Given the description of an element on the screen output the (x, y) to click on. 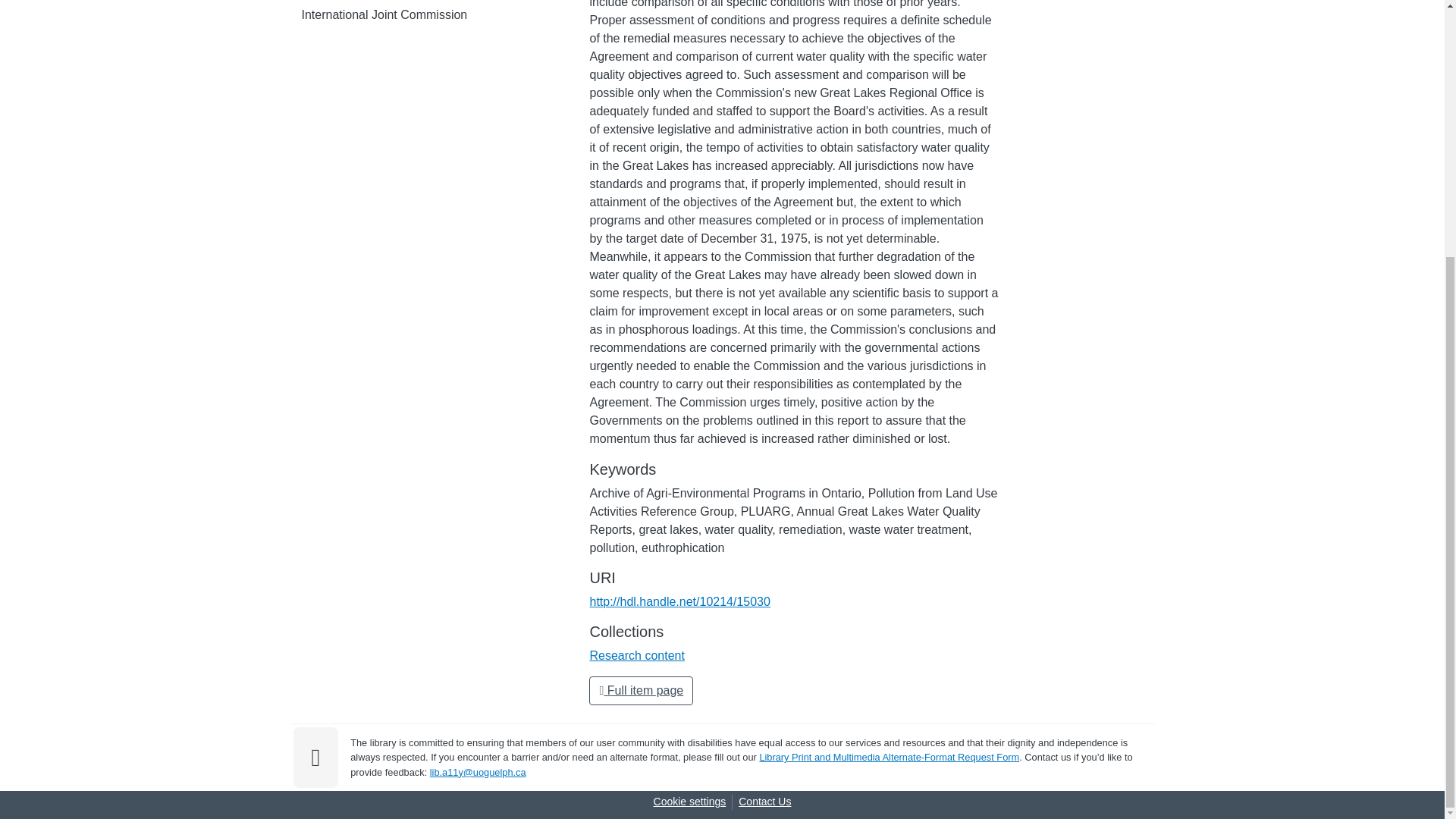
Library Print and Multimedia Alternate-Format Request Form (888, 756)
Cookie settings (689, 801)
Research content (636, 655)
Full item page (641, 690)
Contact Us (764, 801)
